Given the description of an element on the screen output the (x, y) to click on. 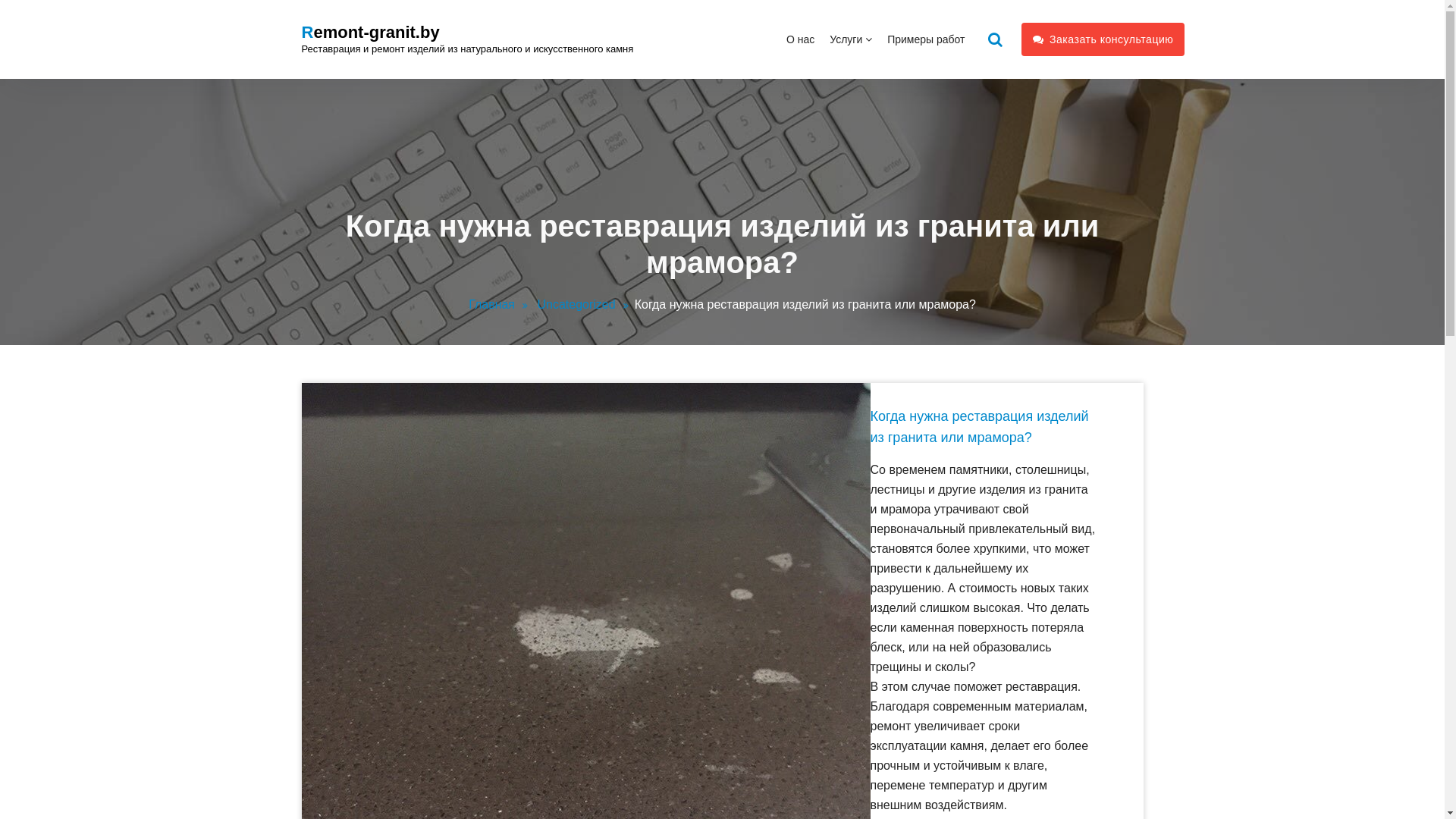
Uncategorized Element type: text (584, 304)
Remont-granit.by Element type: text (370, 32)
